Given the description of an element on the screen output the (x, y) to click on. 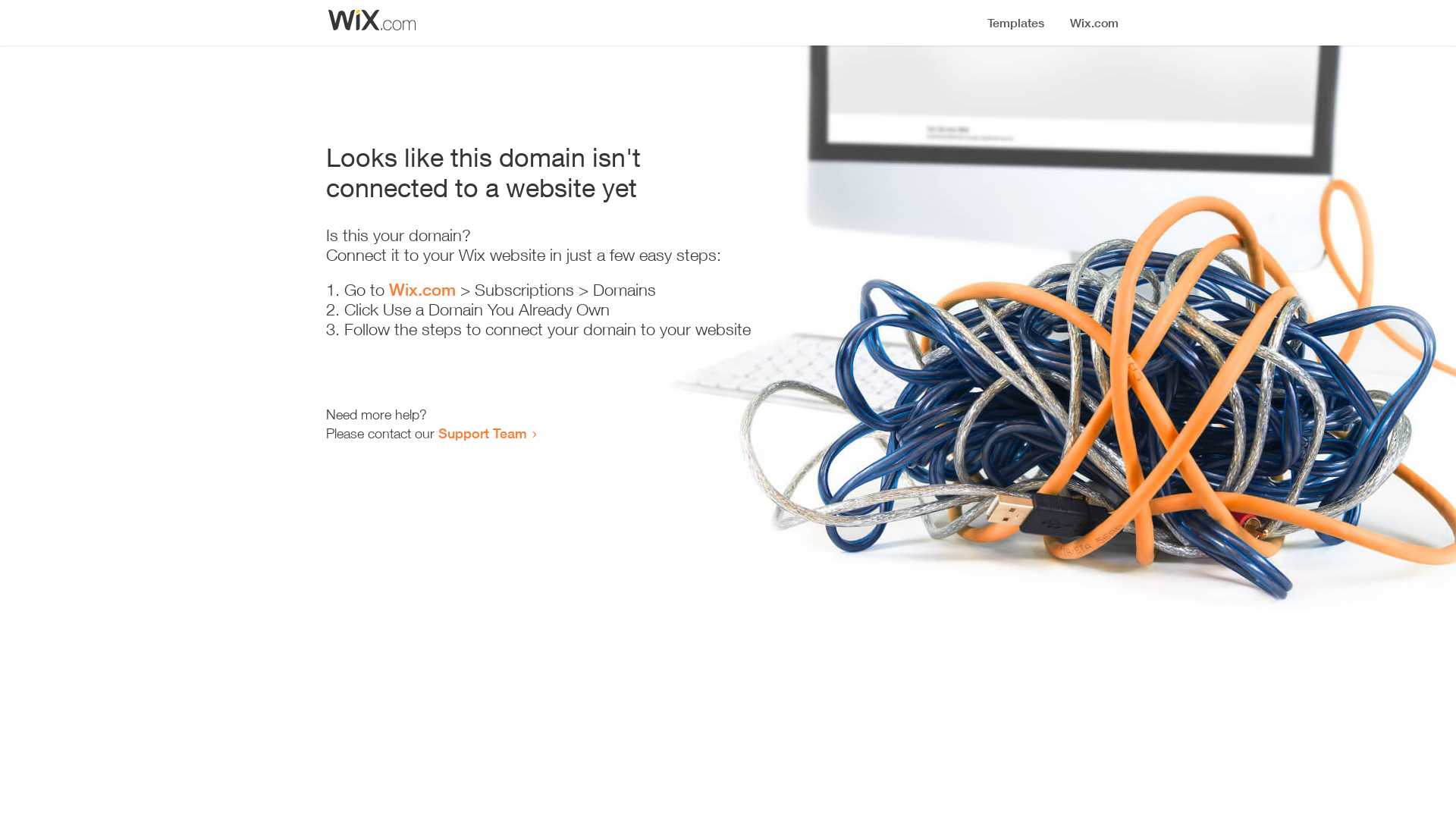
Wix.com Element type: text (422, 289)
Support Team Element type: text (482, 432)
